Given the description of an element on the screen output the (x, y) to click on. 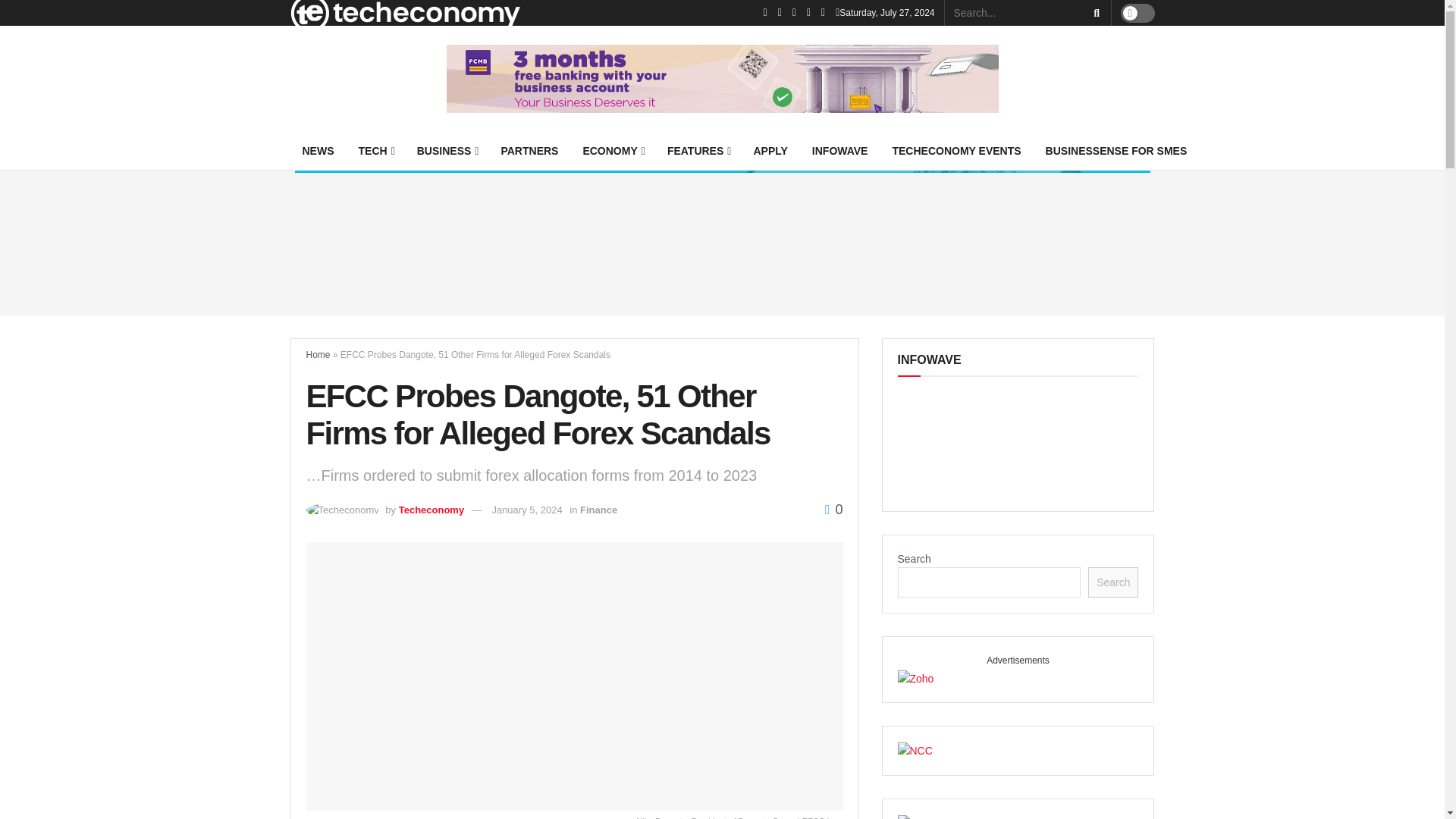
PARTNERS (528, 150)
BUSINESS (446, 150)
FEATURES (698, 150)
NEWS (317, 150)
ECONOMY (611, 150)
TECH (375, 150)
